Given the description of an element on the screen output the (x, y) to click on. 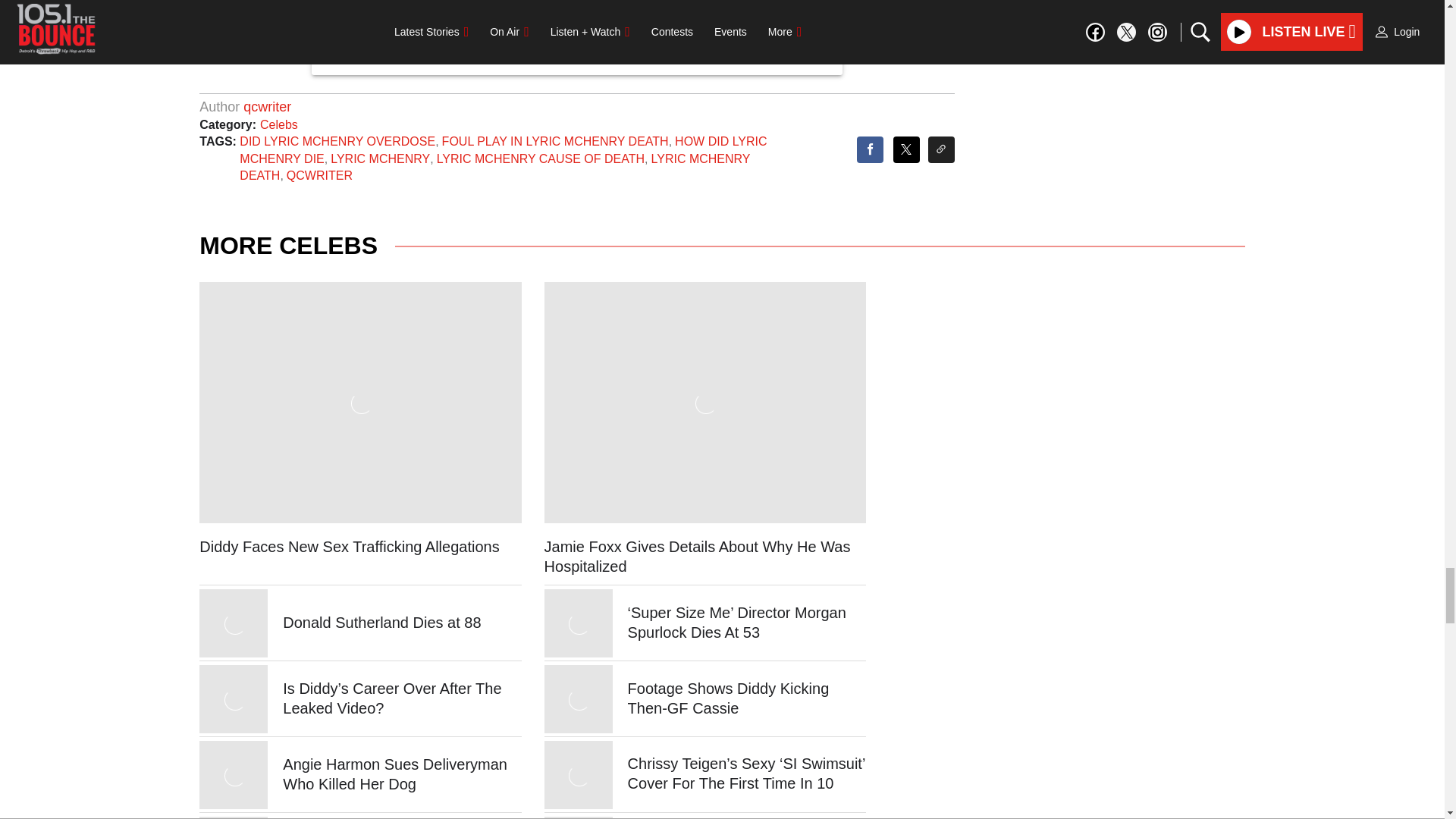
on (430, 27)
qcwriter (267, 106)
